Given the description of an element on the screen output the (x, y) to click on. 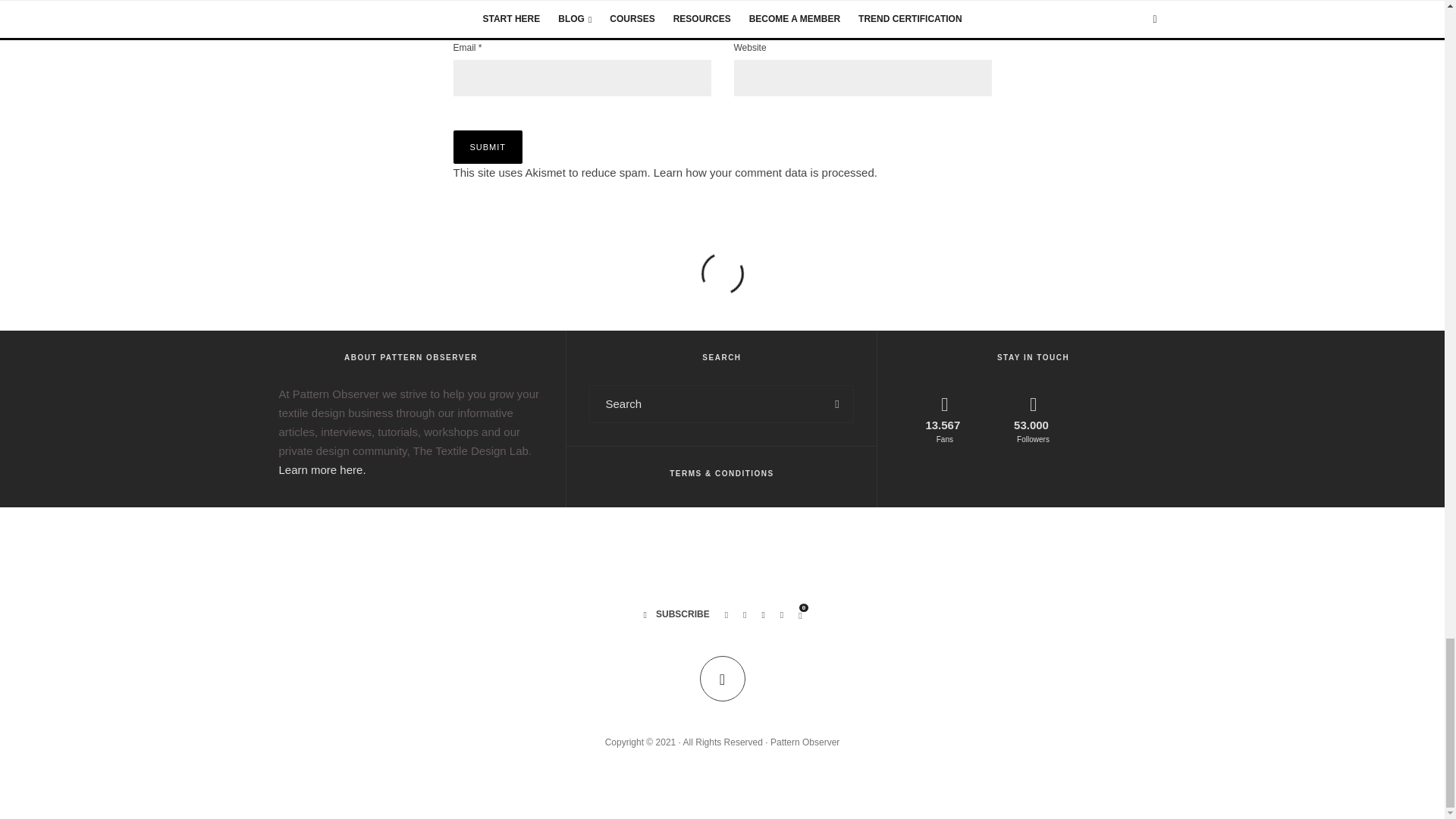
Submit (487, 146)
